Given the description of an element on the screen output the (x, y) to click on. 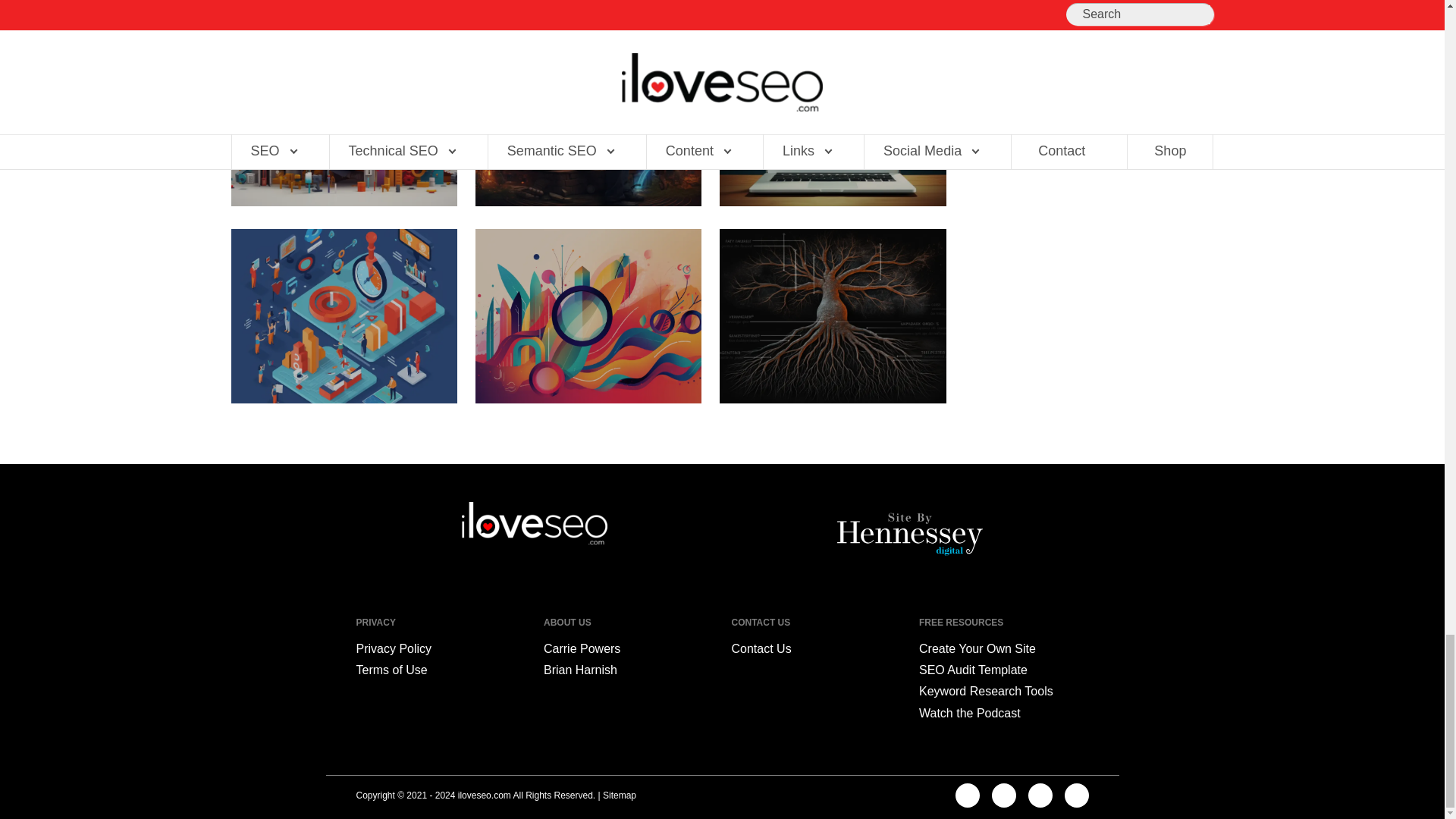
Skills Every SEO Pro Needs for Success (343, 118)
